Given the description of an element on the screen output the (x, y) to click on. 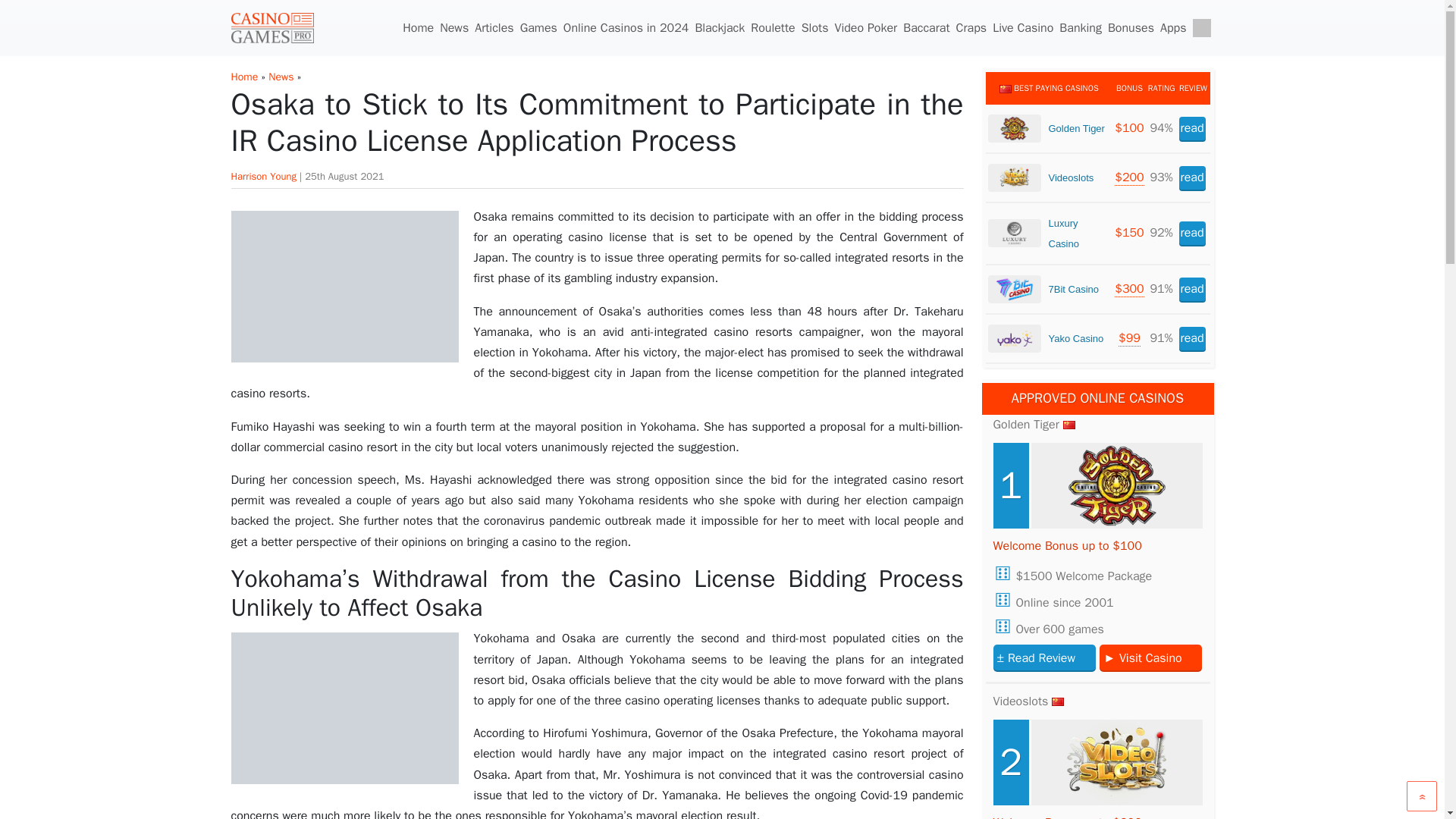
Apps (1173, 28)
Games (538, 28)
Blackjack (719, 28)
CasinoGamesPro.com (272, 27)
Roulette (772, 28)
Live Casino (1023, 28)
Articles (493, 28)
read (1192, 338)
Slots (814, 28)
Articles (493, 28)
